Given the description of an element on the screen output the (x, y) to click on. 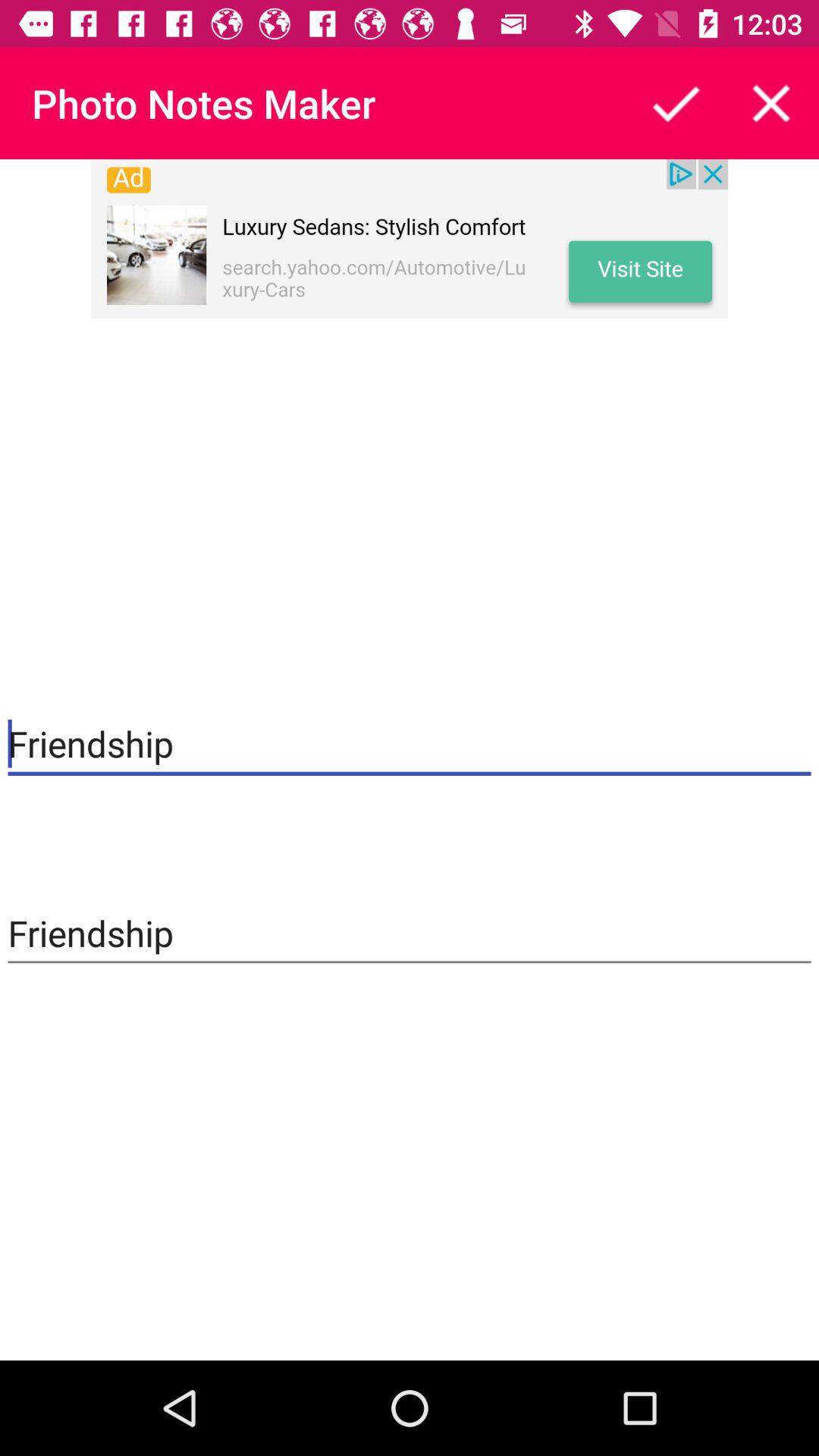
the button is used to share the article to others (675, 103)
